Given the description of an element on the screen output the (x, y) to click on. 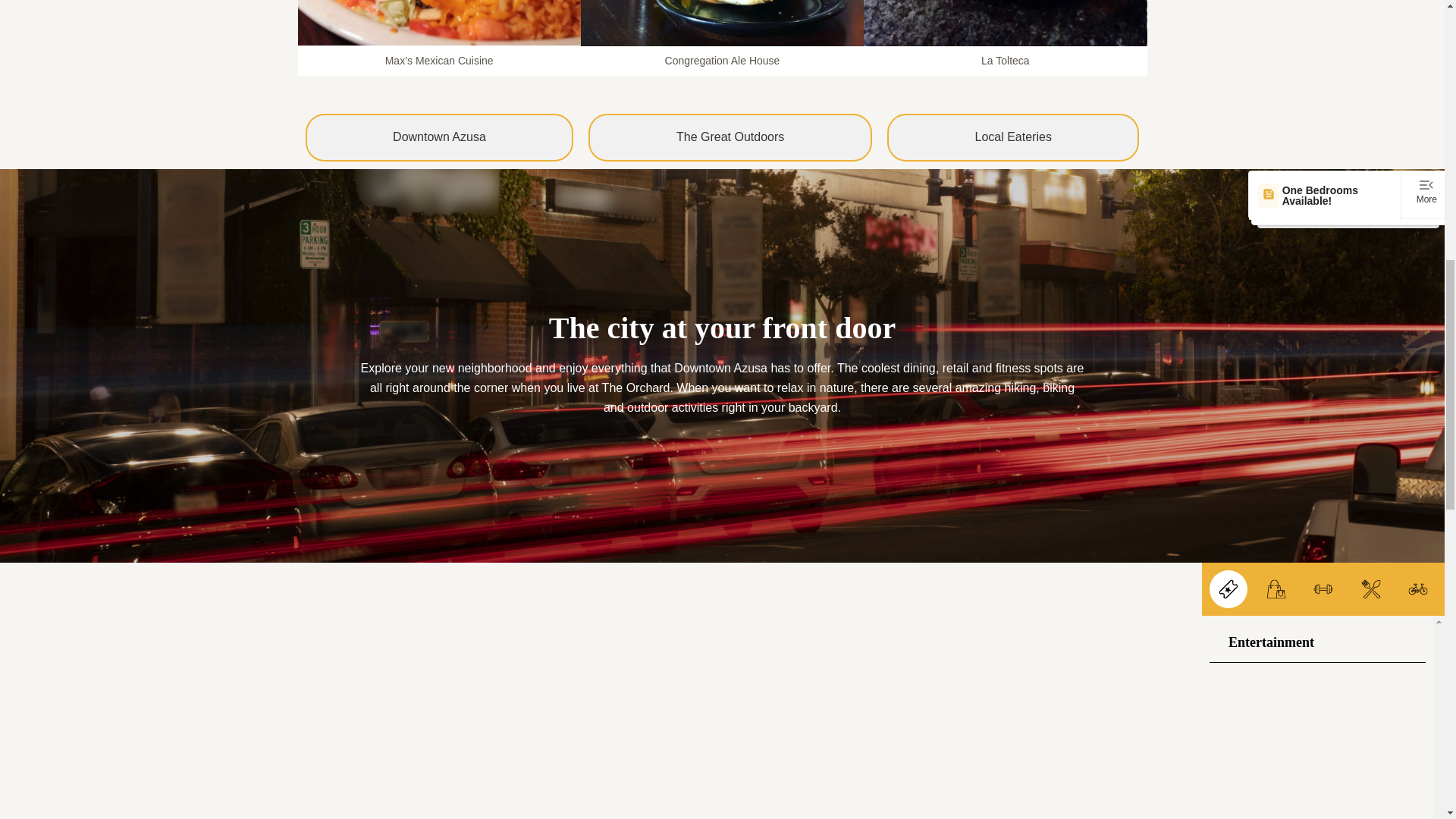
Entertainment (1228, 589)
Local Dining (1370, 589)
Fitness (1323, 589)
Essentials (1276, 589)
